Given the description of an element on the screen output the (x, y) to click on. 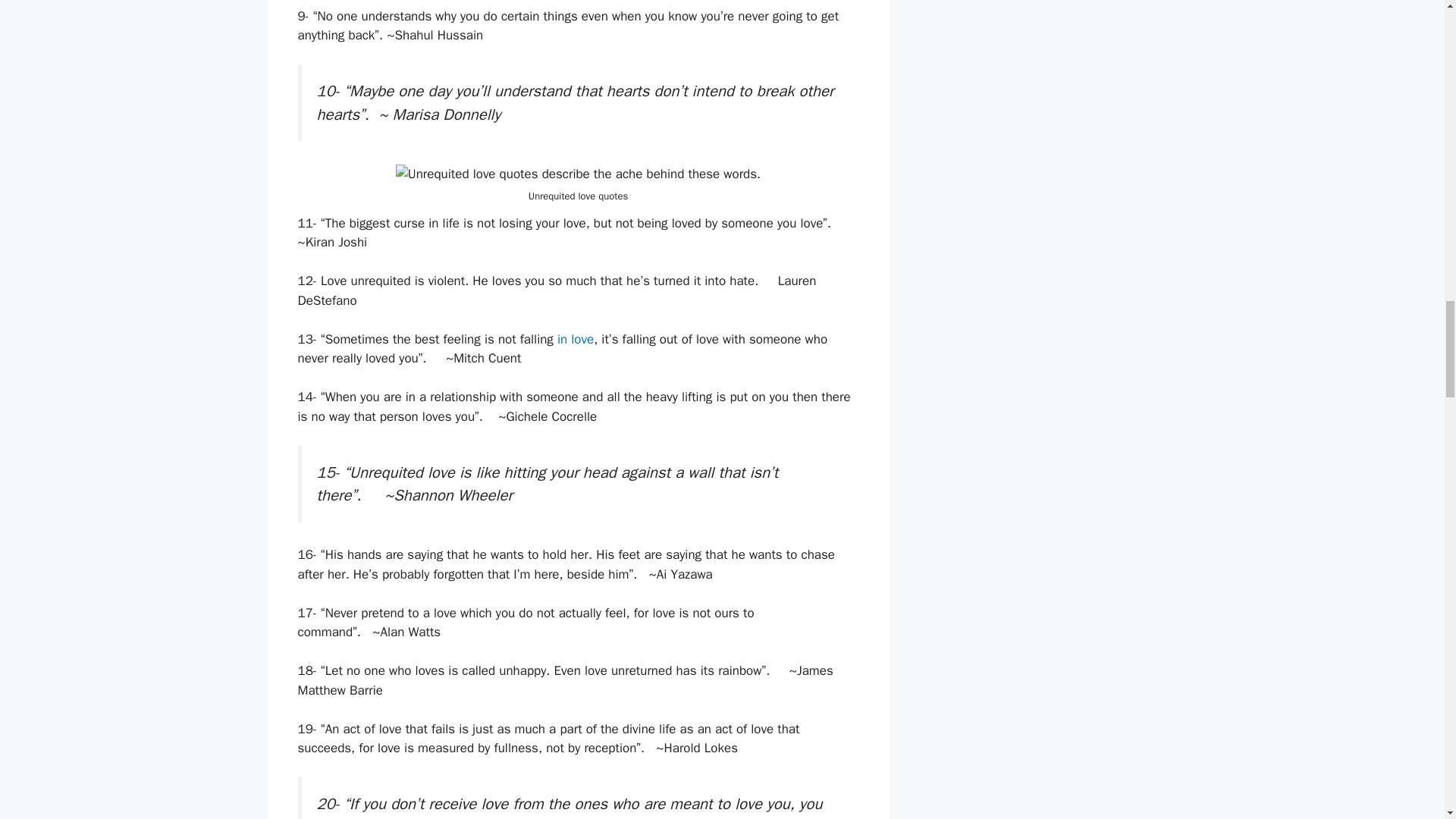
in love (575, 339)
